Given the description of an element on the screen output the (x, y) to click on. 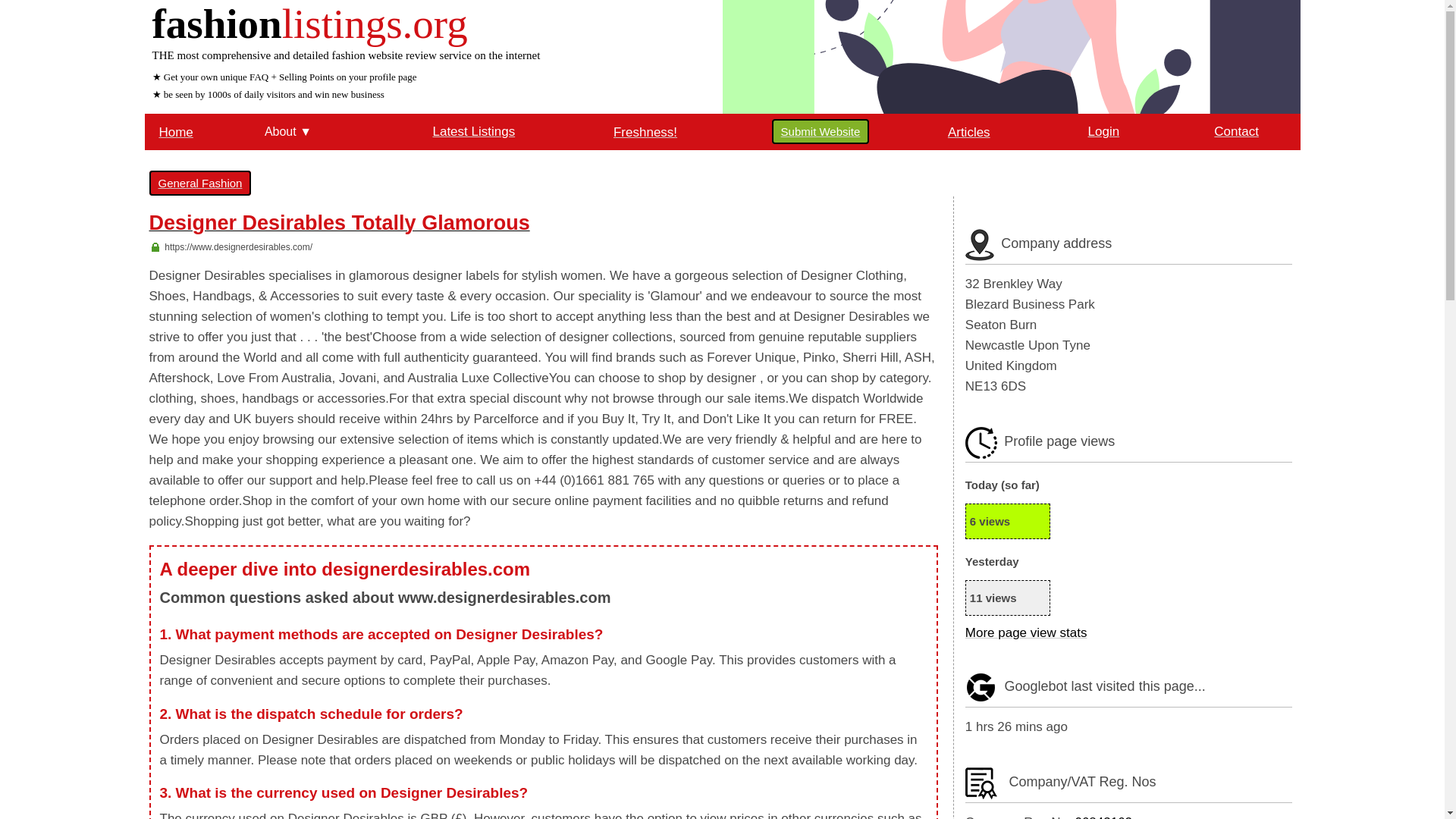
Freshness! (644, 131)
Designer Desirables Totally Glamorous (338, 225)
Articles (968, 131)
Home (175, 131)
Latest Listings (473, 131)
General Fashion (199, 182)
06843162 (1103, 816)
Submit Website (820, 131)
Login (1103, 131)
Contact (1236, 131)
